Given the description of an element on the screen output the (x, y) to click on. 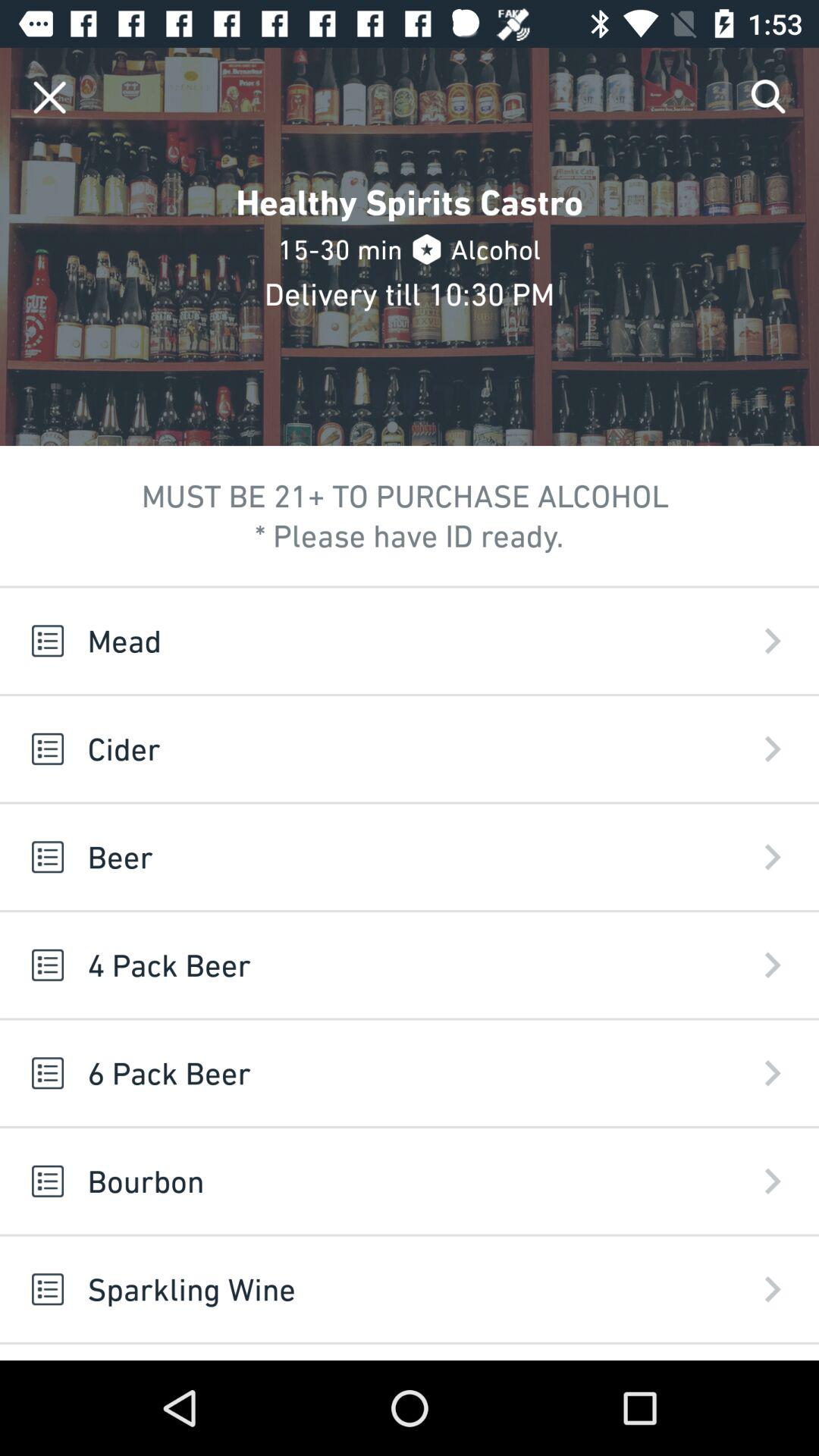
open the icon above the mead app (769, 97)
